Given the description of an element on the screen output the (x, y) to click on. 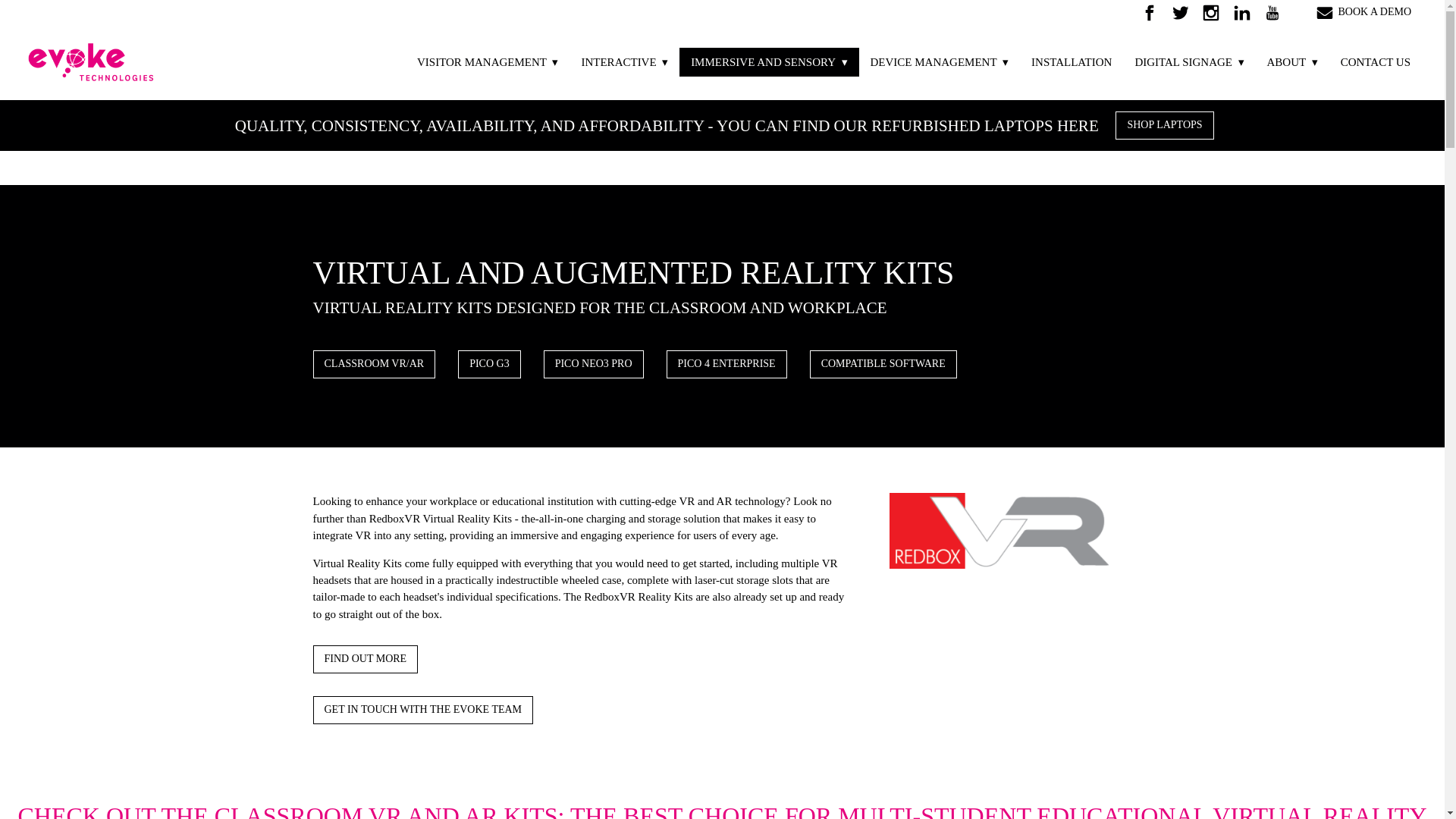
BOOK A DEMO (1365, 12)
INSTALLATION (1071, 61)
DIGITAL SIGNAGE (1188, 61)
VISITOR MANAGEMENT (487, 61)
